Given the description of an element on the screen output the (x, y) to click on. 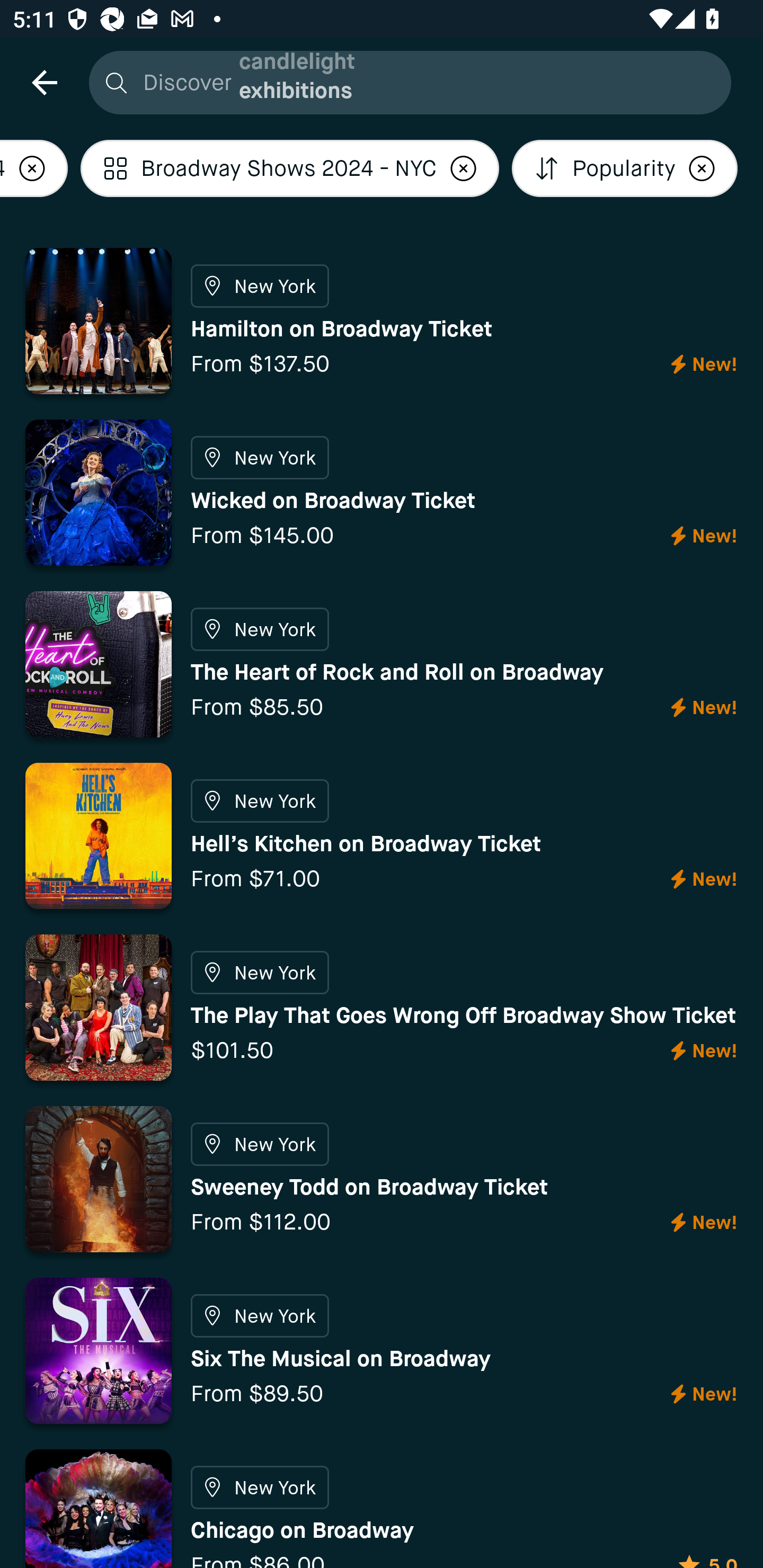
navigation icon (44, 81)
Discover candlelight (405, 81)
Localized description (33, 168)
Localized description (463, 168)
Localized description (701, 168)
